Given the description of an element on the screen output the (x, y) to click on. 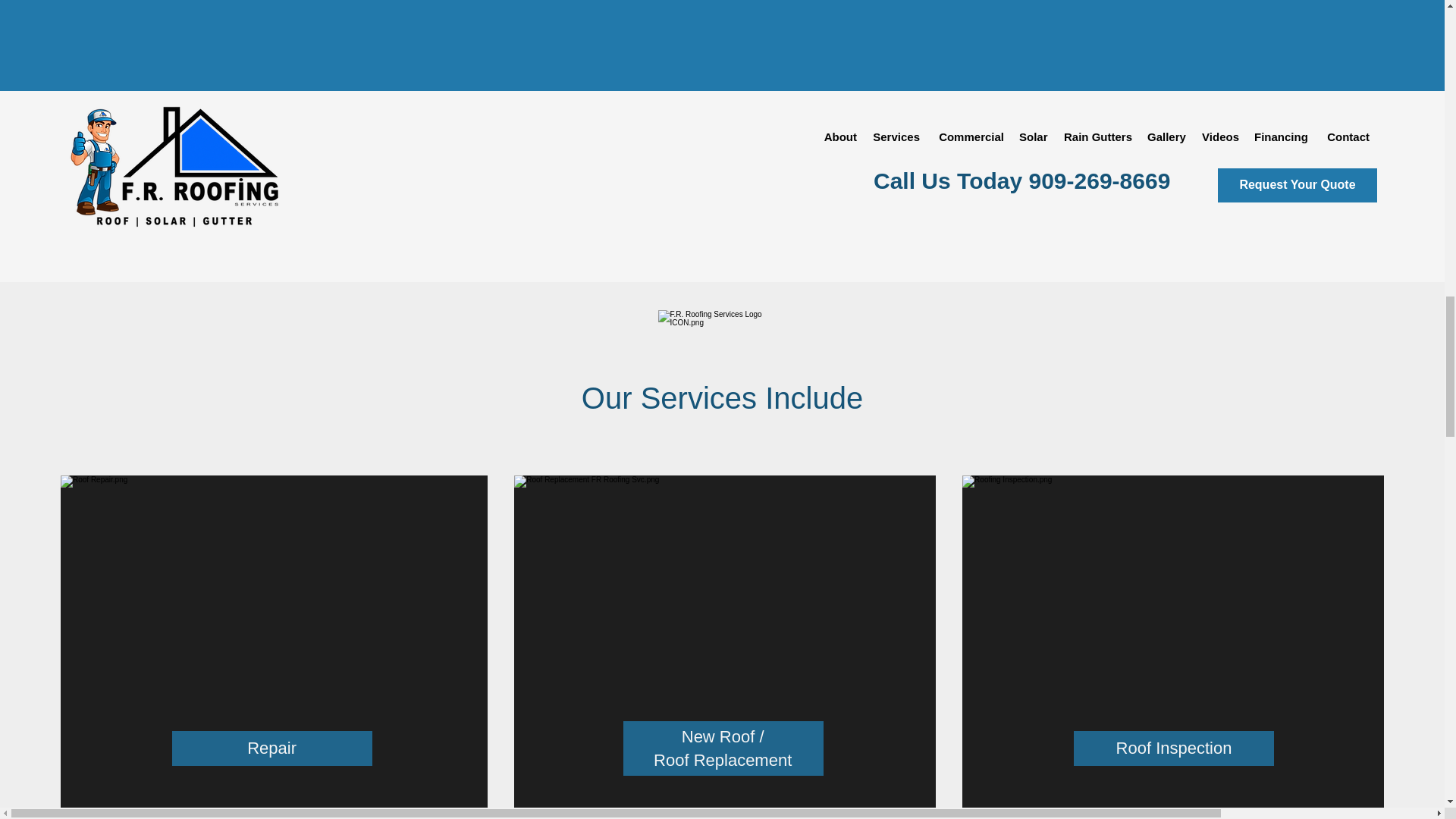
Repair (272, 747)
Roof Replacement (722, 760)
Roof Inspection (1173, 747)
